Given the description of an element on the screen output the (x, y) to click on. 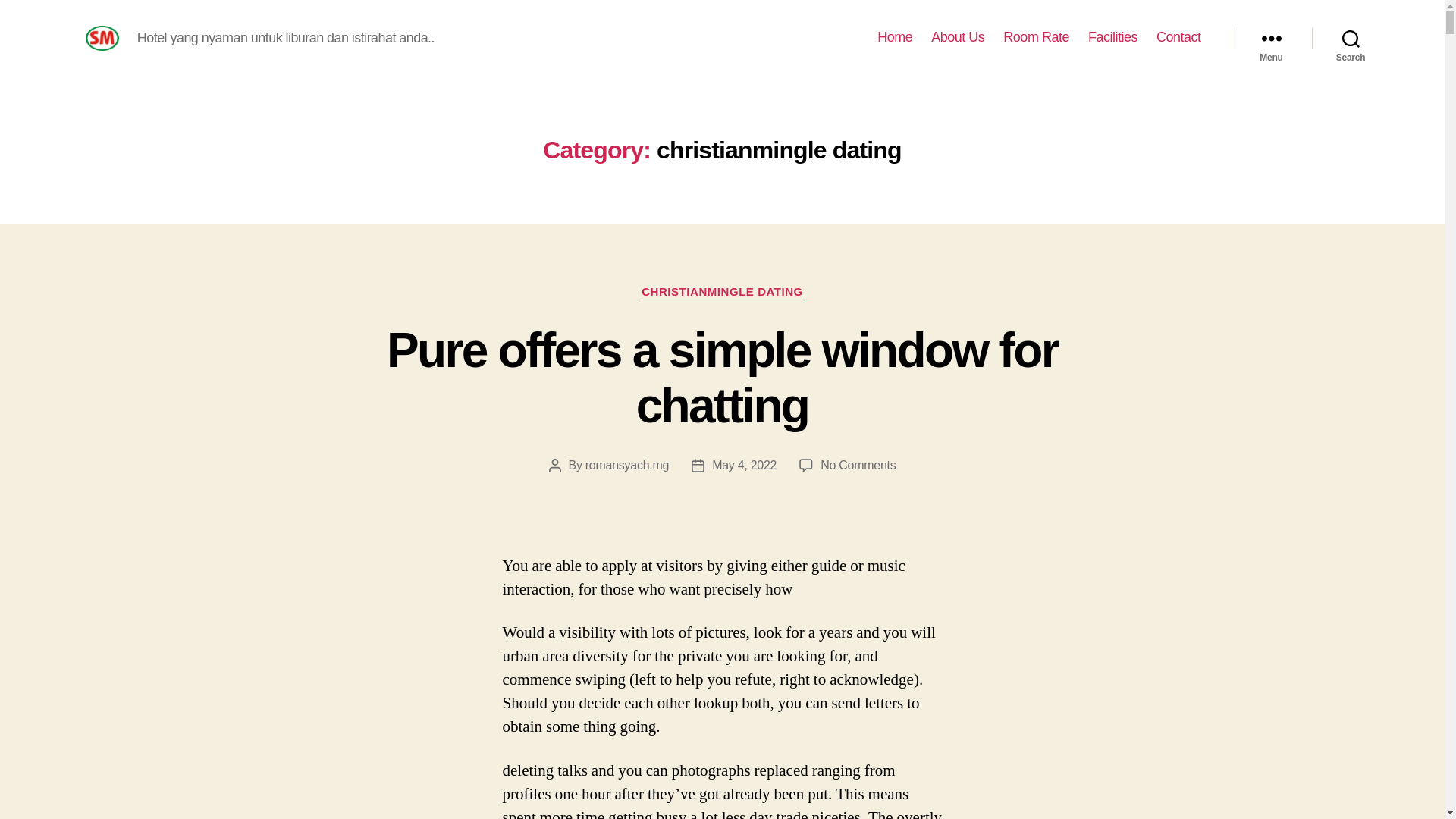
May 4, 2022 (743, 464)
Contact (1178, 37)
Home (894, 37)
Facilities (1112, 37)
CHRISTIANMINGLE DATING (722, 292)
Room Rate (1035, 37)
Menu (1271, 37)
Search (1350, 37)
romansyach.mg (626, 464)
Pure offers a simple window for chatting (722, 377)
